Given the description of an element on the screen output the (x, y) to click on. 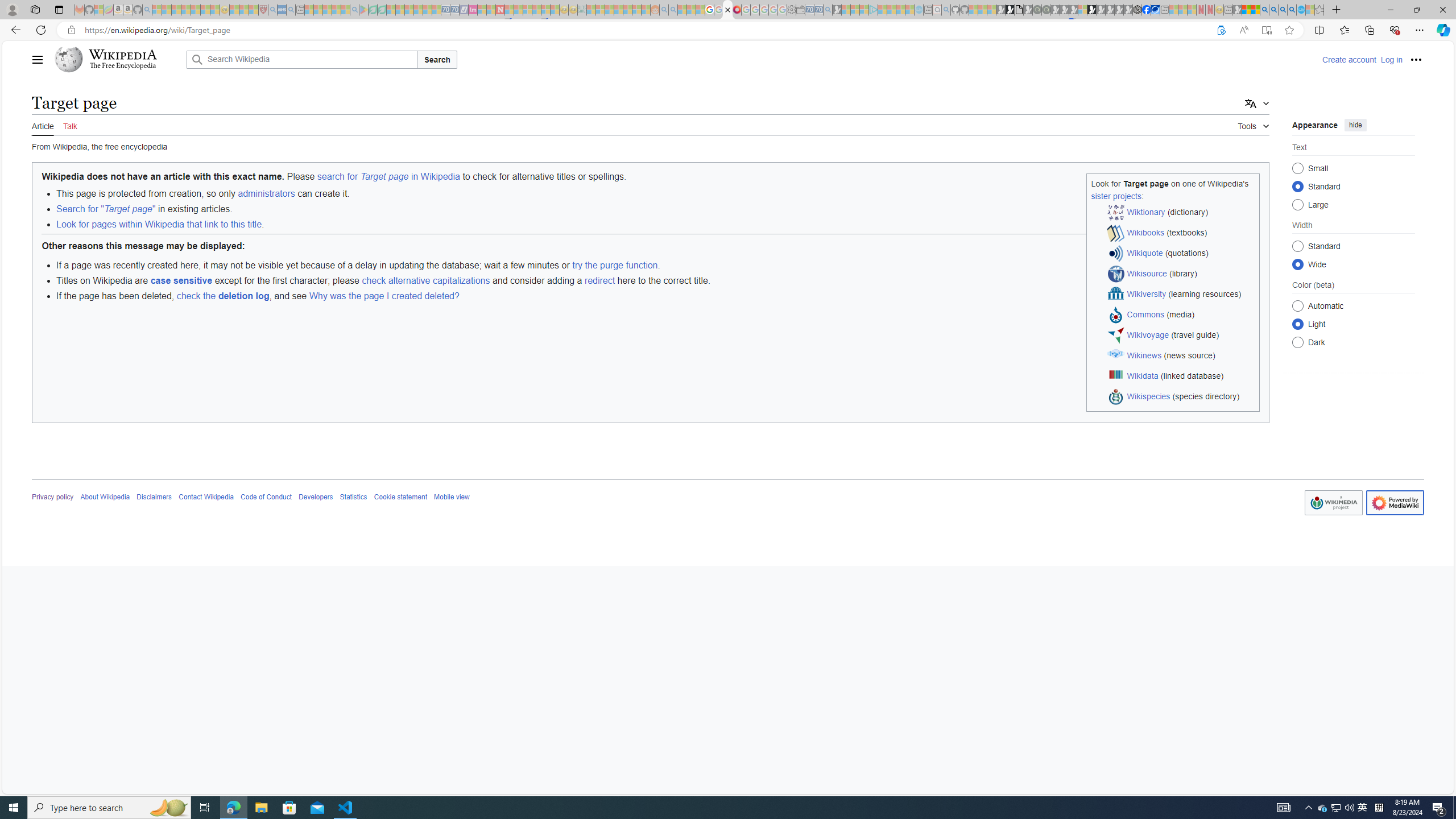
Personal tools (1415, 59)
Pets - MSN - Sleeping (336, 9)
About Wikipedia (104, 496)
check the deletion log (222, 296)
Look for pages within Wikipedia that link to this title (158, 224)
google - Search - Sleeping (354, 9)
Why was the page I created deleted? (384, 296)
Mobile view (451, 497)
Bluey: Let's Play! - Apps on Google Play - Sleeping (362, 9)
